Given the description of an element on the screen output the (x, y) to click on. 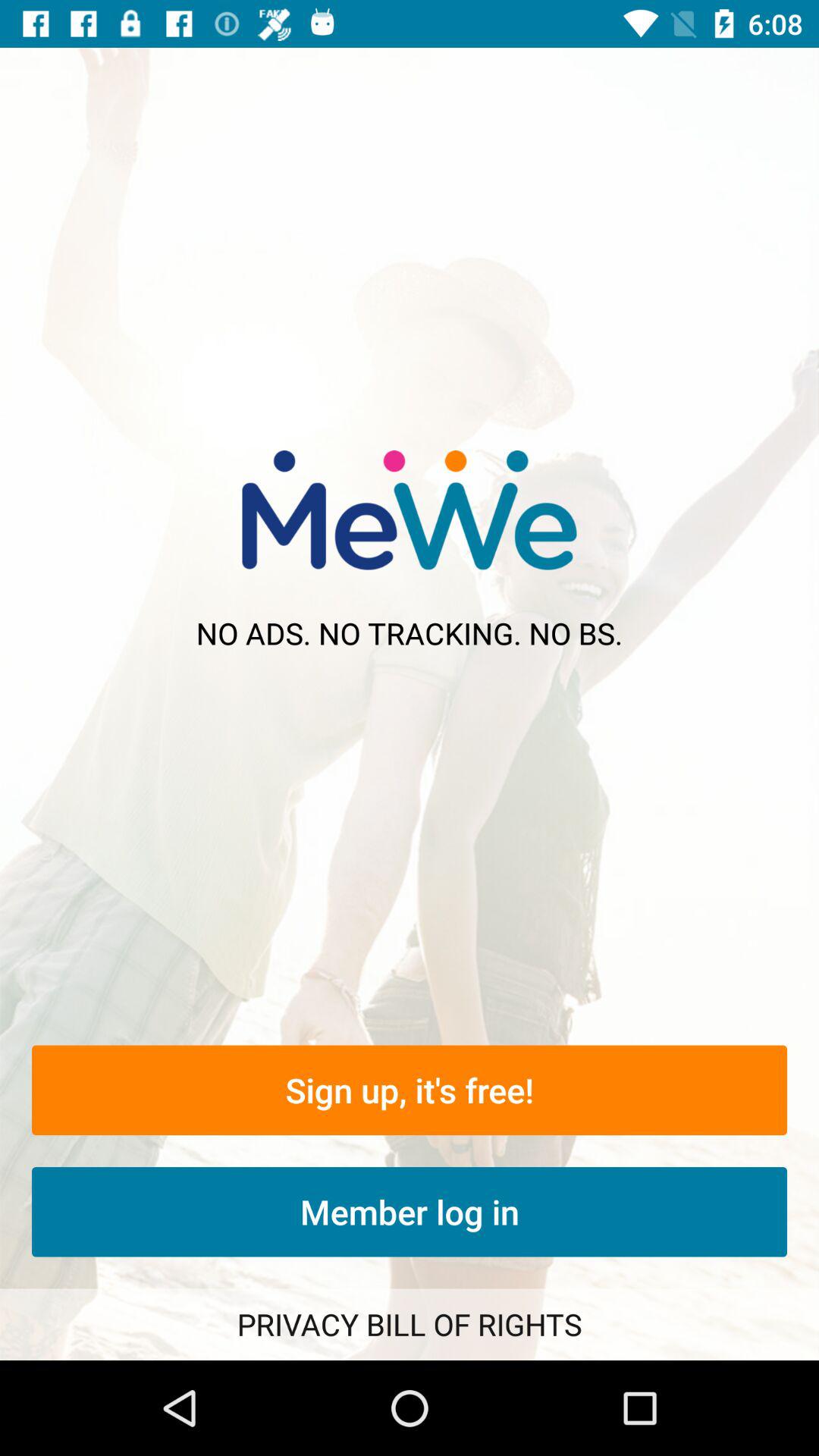
open the icon above the privacy bill of (409, 1211)
